Given the description of an element on the screen output the (x, y) to click on. 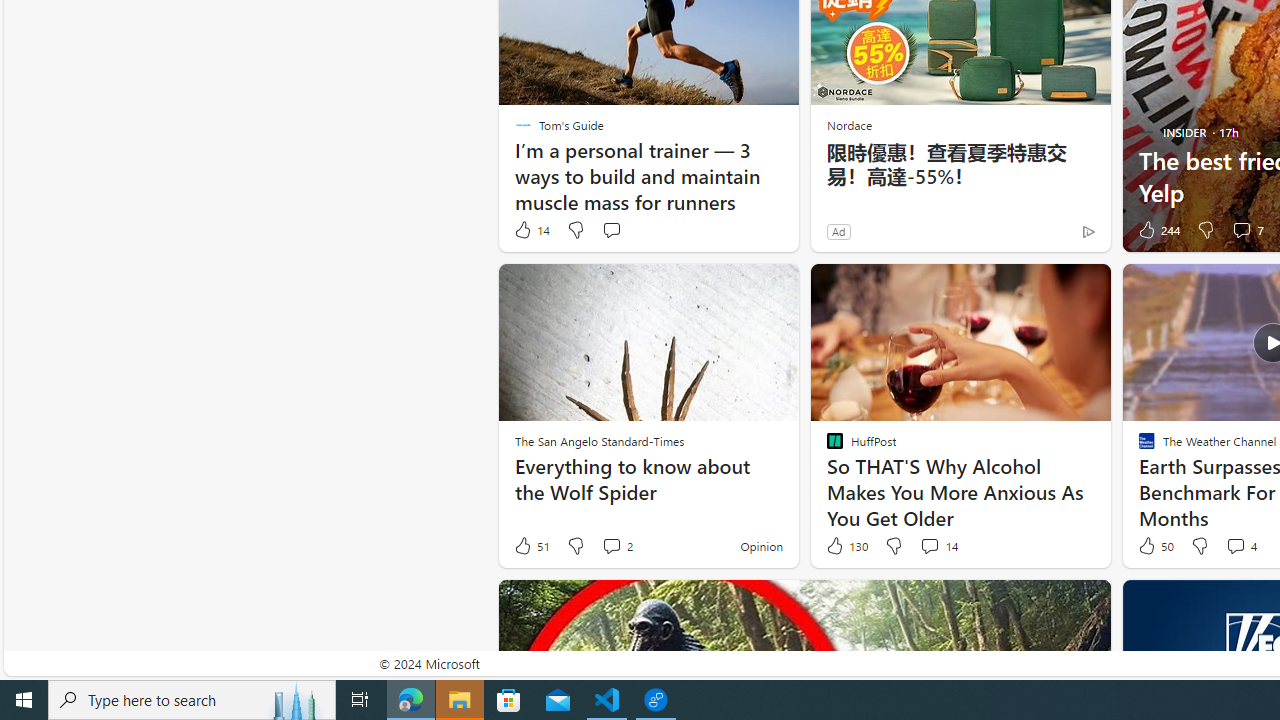
View comments 14 Comment (938, 546)
14 Like (531, 230)
View comments 4 Comment (1240, 546)
View comments 2 Comment (616, 546)
View comments 7 Comment (1241, 229)
